Given the description of an element on the screen output the (x, y) to click on. 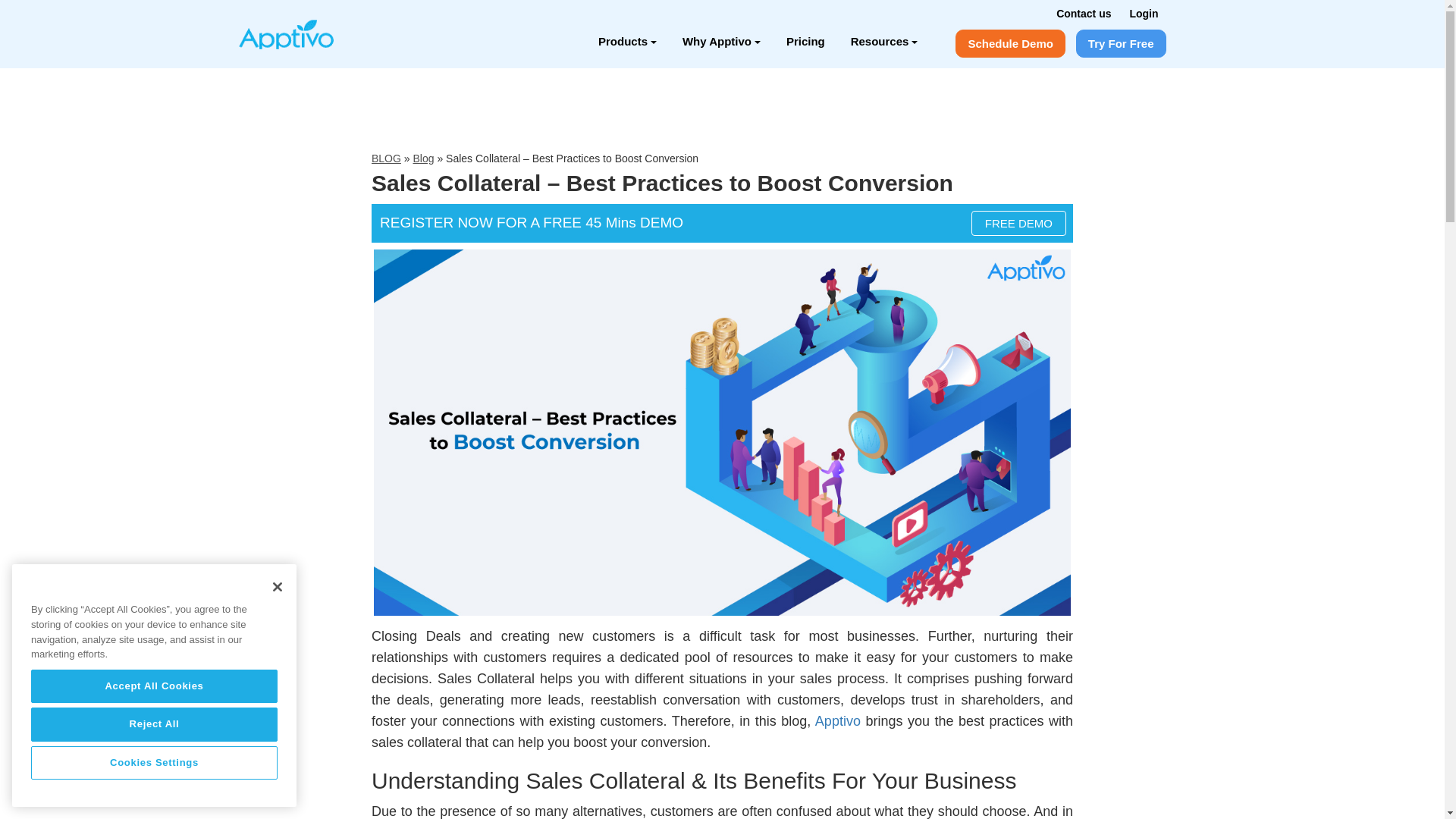
Login (1143, 13)
Contact us (1083, 13)
Products (627, 41)
